Given the description of an element on the screen output the (x, y) to click on. 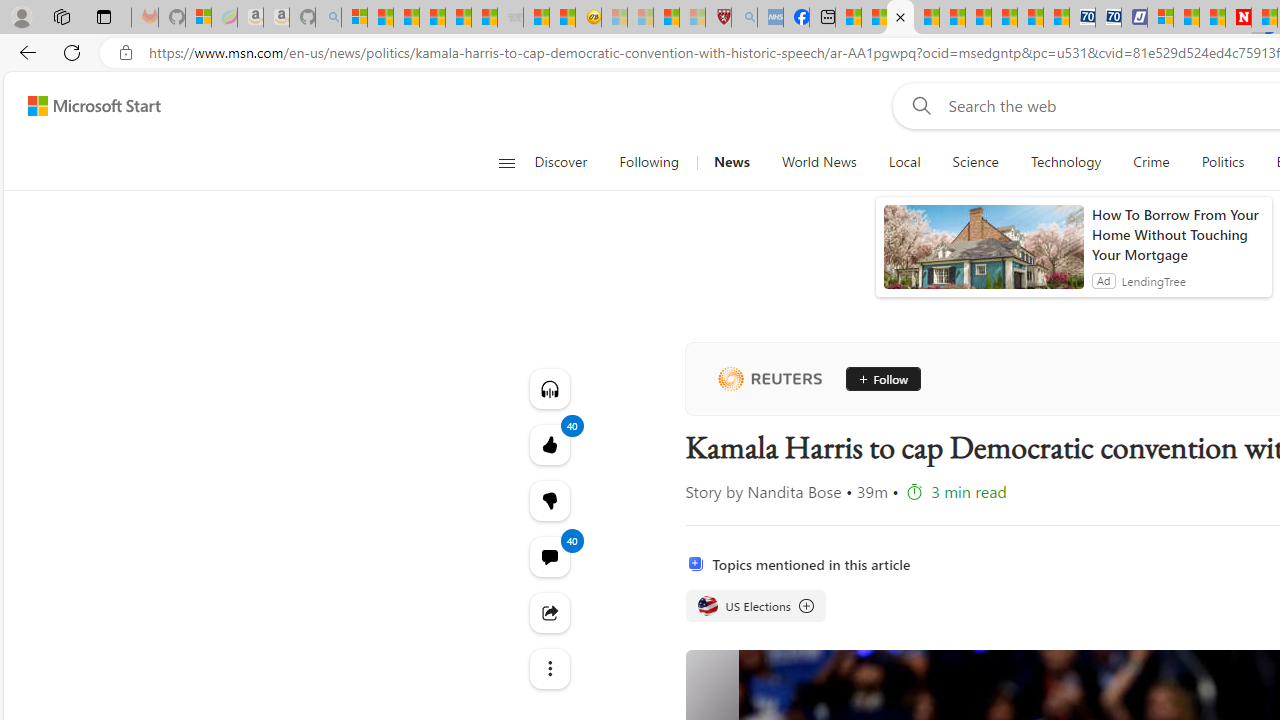
Recipes - MSN - Sleeping (614, 17)
View site information (125, 53)
Combat Siege - Sleeping (510, 17)
anim-content (983, 255)
How To Borrow From Your Home Without Touching Your Mortgage (1177, 234)
The Weather Channel - MSN (406, 17)
Following (649, 162)
Politics (1222, 162)
Science - MSN (666, 17)
Back (24, 52)
Stocks - MSN (484, 17)
MSNBC - MSN (848, 17)
News (731, 162)
Open navigation menu (506, 162)
